Given the description of an element on the screen output the (x, y) to click on. 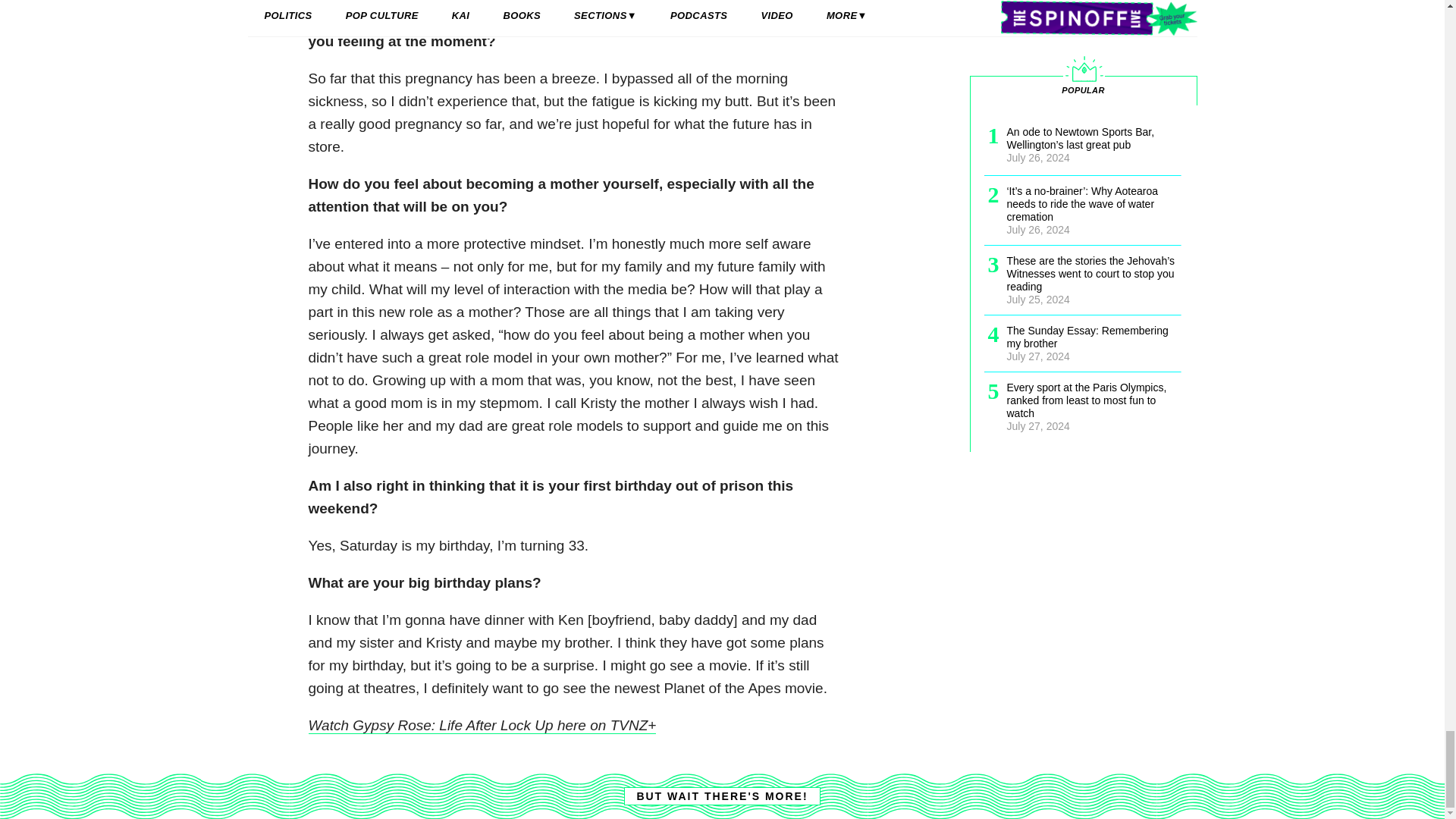
BUT WAIT THERE'S MORE! (721, 796)
